Given the description of an element on the screen output the (x, y) to click on. 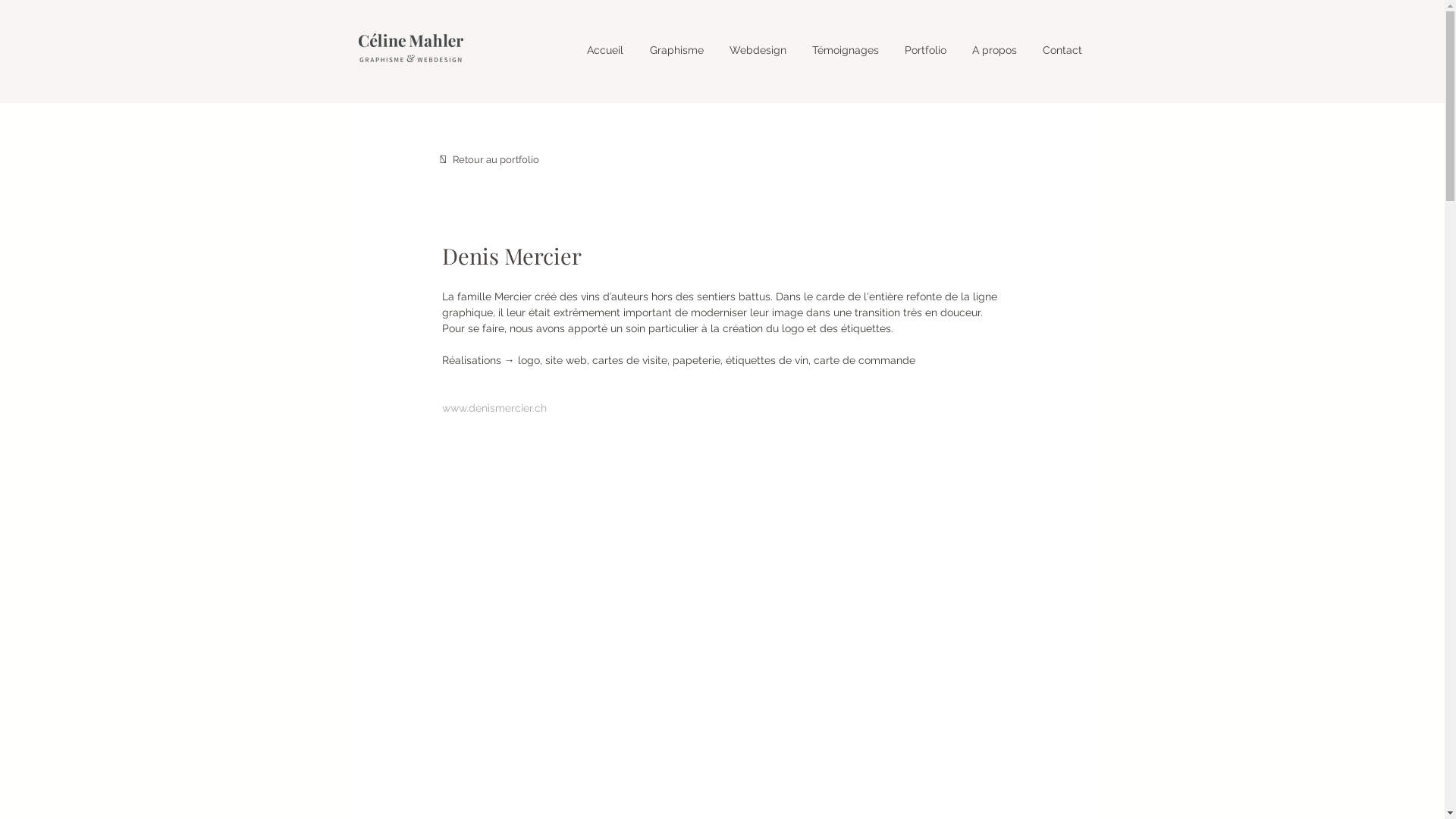
Graphisme Element type: text (676, 50)
Webdesign Element type: text (756, 50)
www.denismercier.ch Element type: text (493, 407)
Portfolio Element type: text (925, 50)
Accueil Element type: text (604, 50)
Contact Element type: text (1062, 50)
A propos Element type: text (993, 50)
